Given the description of an element on the screen output the (x, y) to click on. 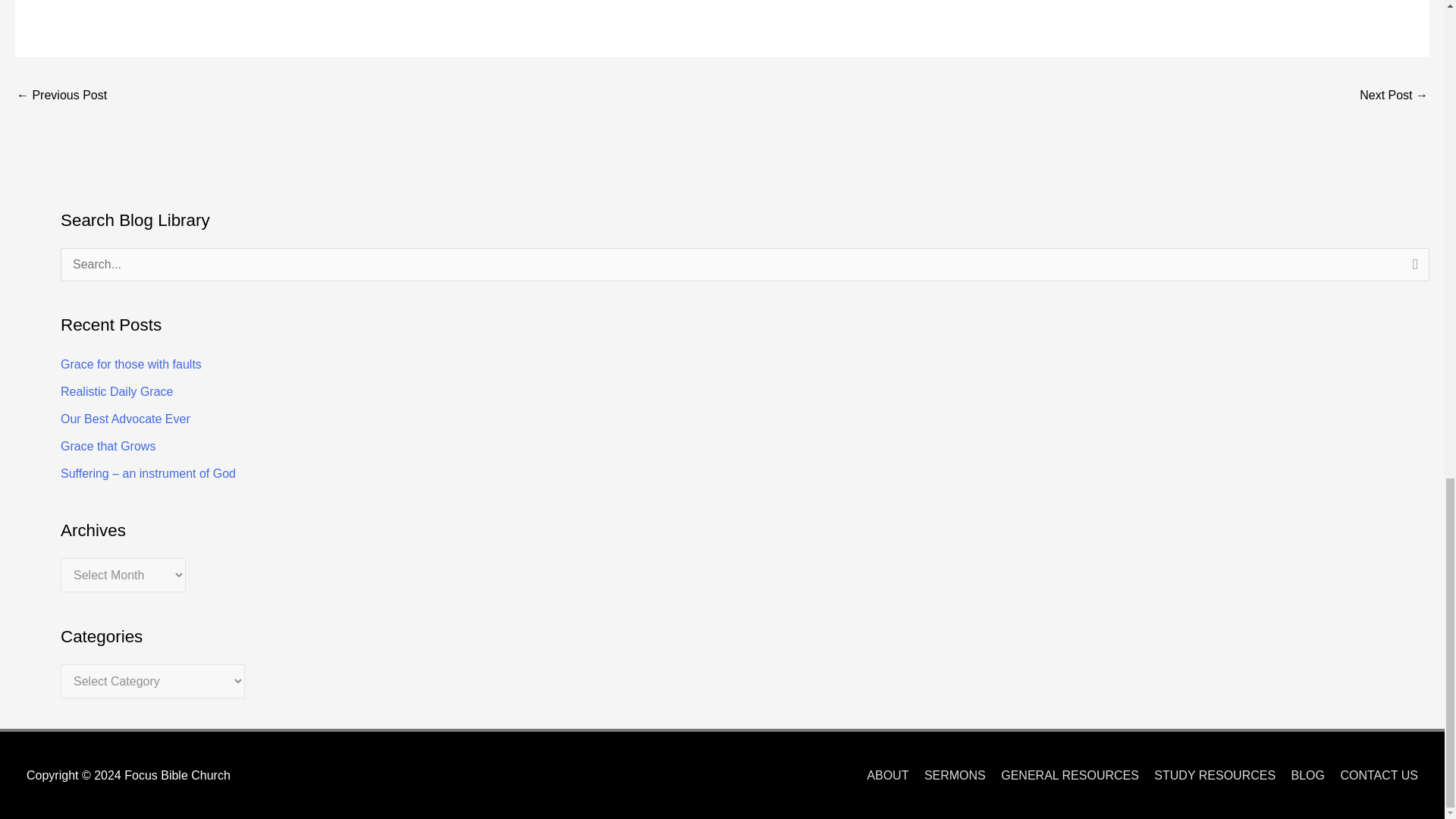
About Focus Bible Church (881, 775)
Search (1411, 269)
Celebrate the Holy Spirit's work of belief (1393, 96)
Reject rejection of Jesus Christ (61, 96)
Search (1411, 269)
